Given the description of an element on the screen output the (x, y) to click on. 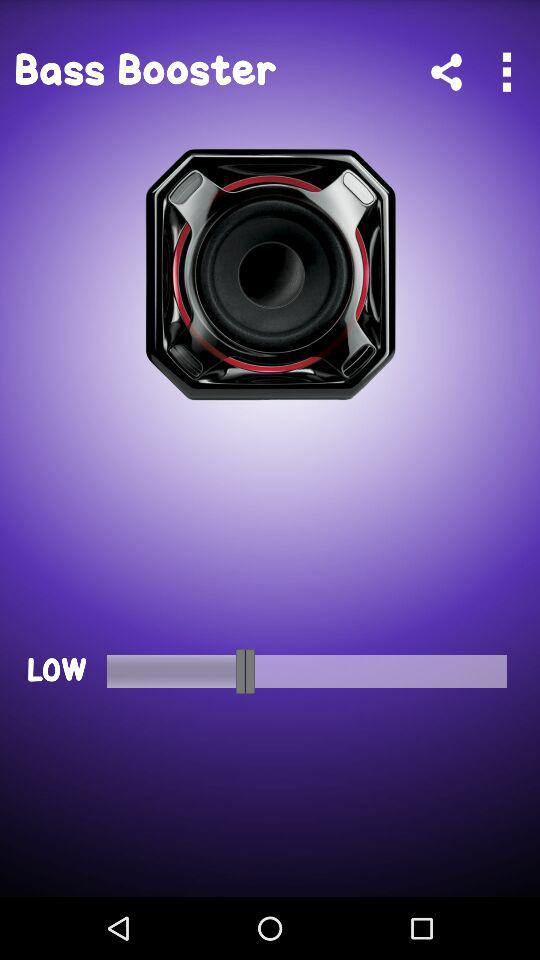
share this app (446, 72)
